Given the description of an element on the screen output the (x, y) to click on. 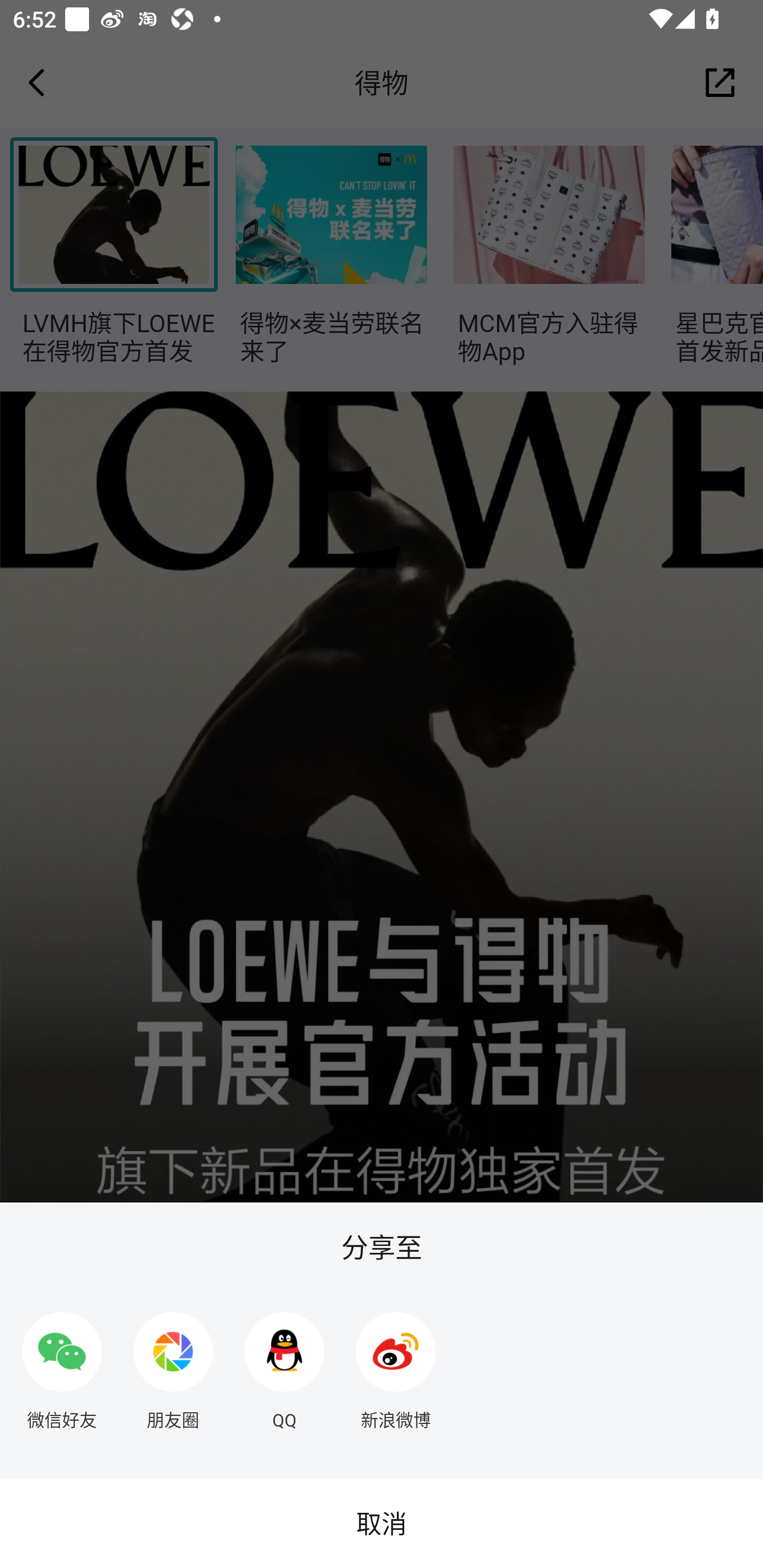
微信好友 (61, 1363)
朋友圈 (172, 1363)
QQ (284, 1363)
新浪微博 (395, 1363)
取消 (381, 1523)
